Given the description of an element on the screen output the (x, y) to click on. 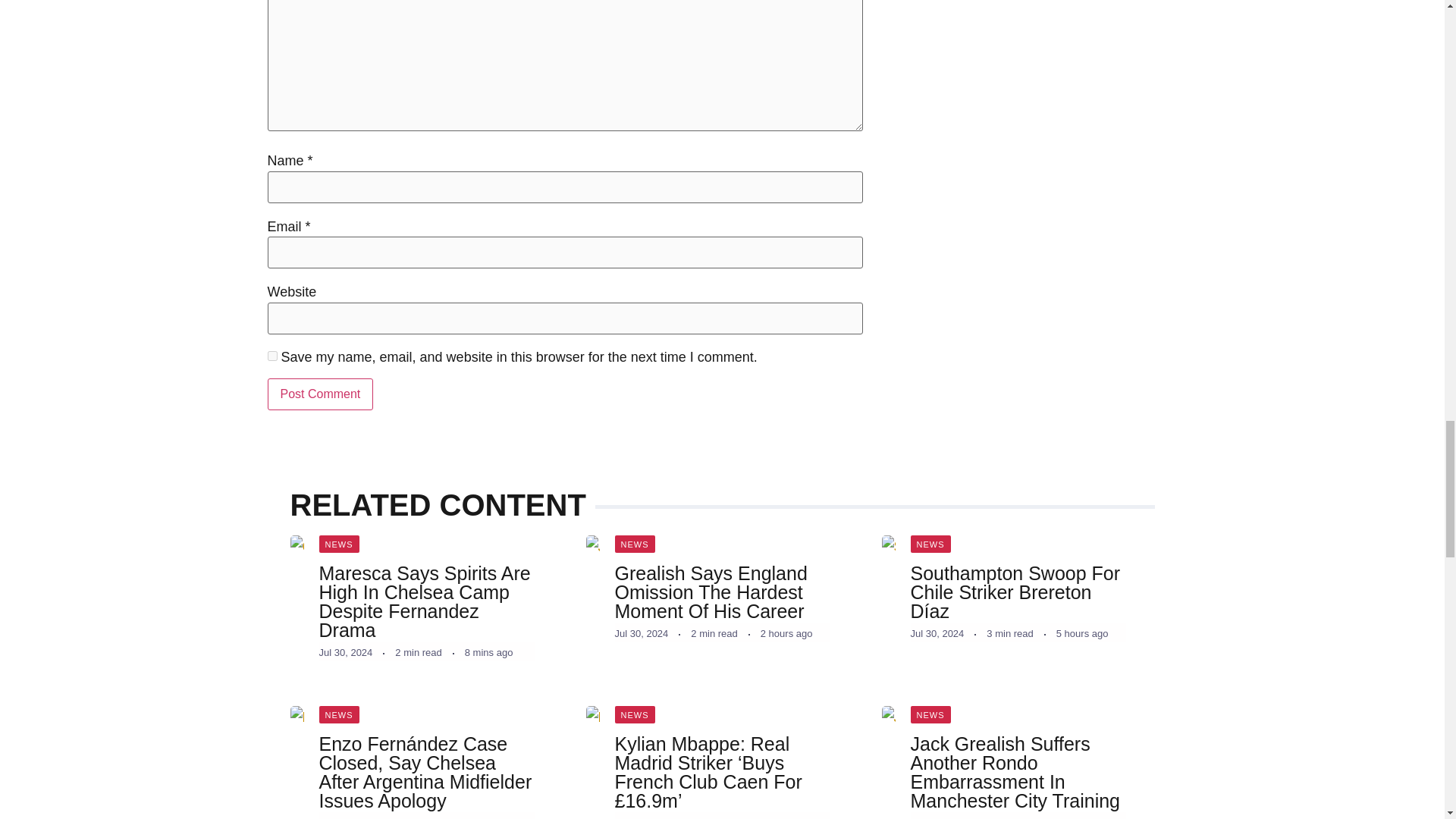
Post Comment (319, 394)
yes (271, 356)
